Given the description of an element on the screen output the (x, y) to click on. 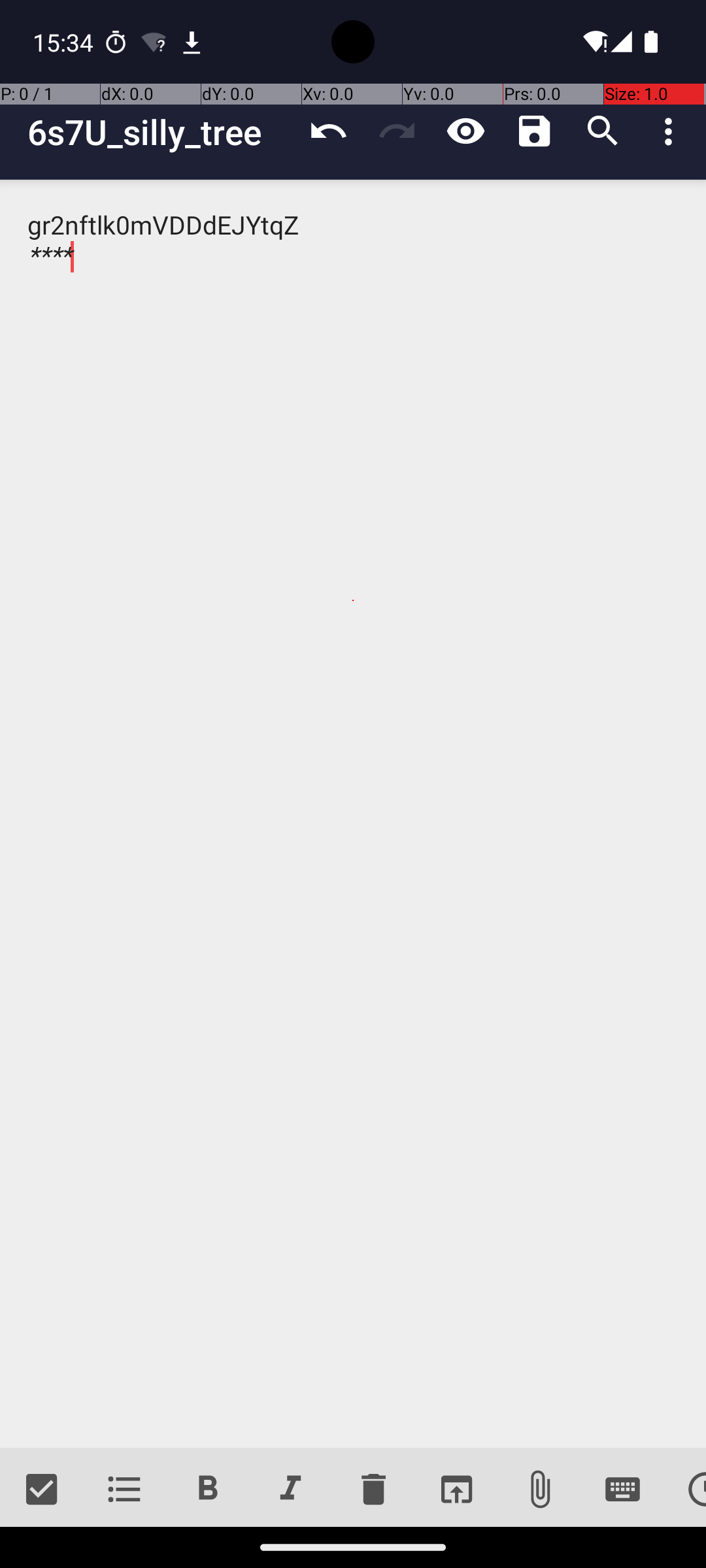
6s7U_silly_tree Element type: android.widget.TextView (160, 131)
gr2nftlk0mVDDdEJYtqZ
**** Element type: android.widget.EditText (353, 813)
